Given the description of an element on the screen output the (x, y) to click on. 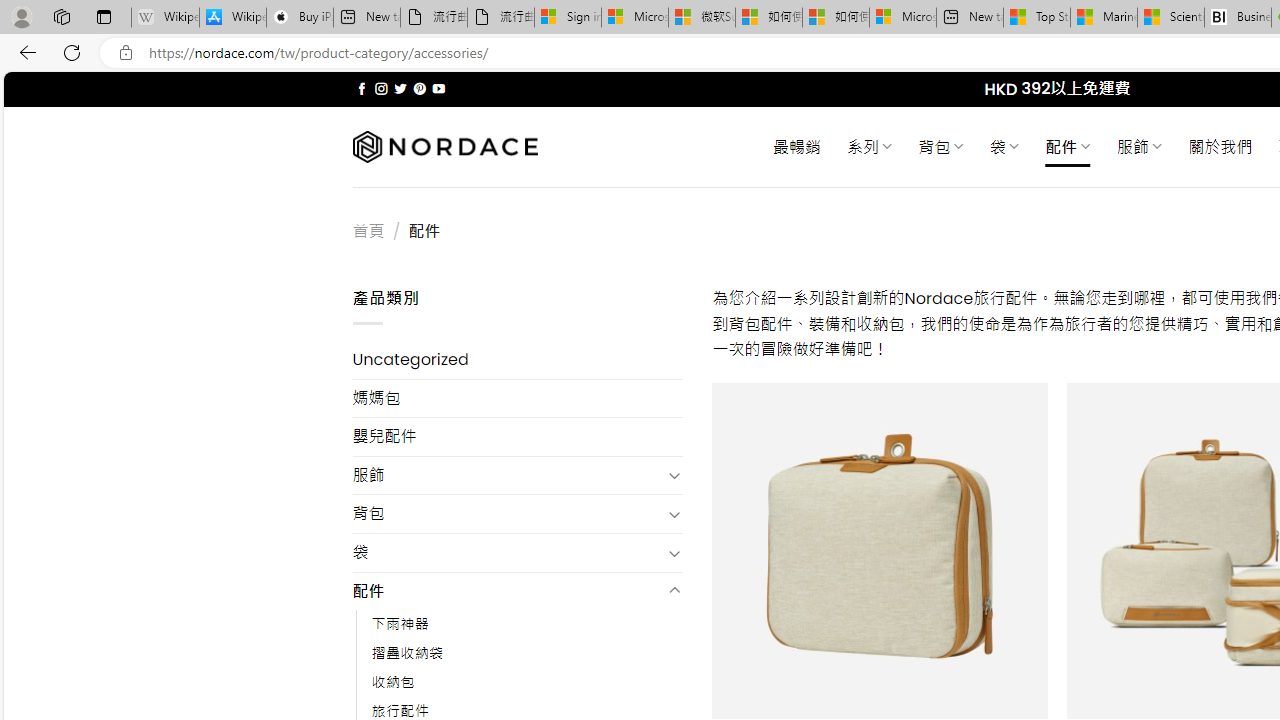
Uncategorized (517, 359)
Follow on YouTube (438, 88)
Marine life - MSN (1103, 17)
Follow on Pinterest (419, 88)
